Given the description of an element on the screen output the (x, y) to click on. 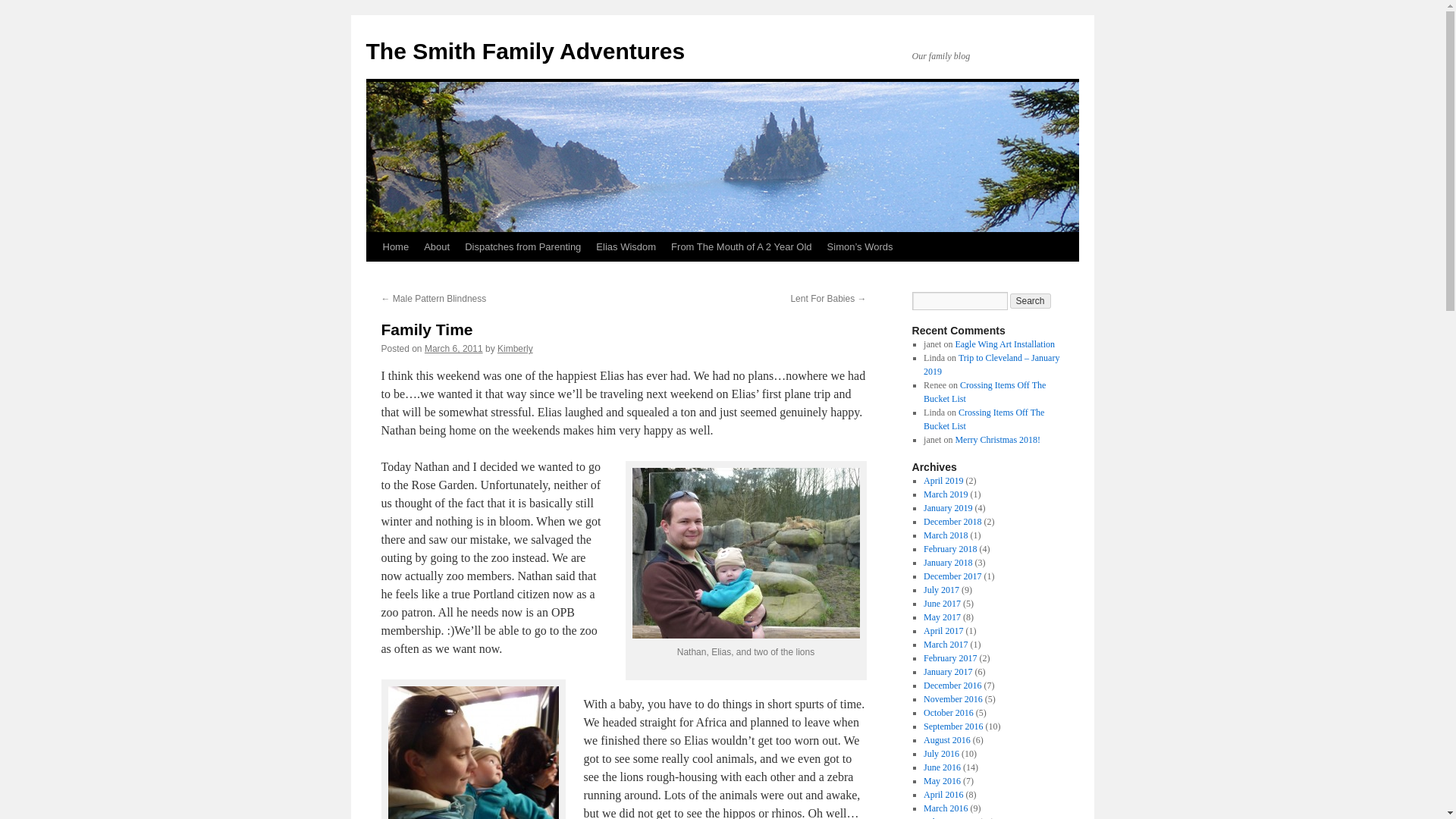
fan (473, 752)
Merry Christmas 2018! (998, 439)
Kimberly (514, 348)
Search (1030, 300)
April 2019 (942, 480)
February 2018 (949, 548)
March 6, 2011 (454, 348)
Search (1030, 300)
About (436, 246)
View all posts by Kimberly (514, 348)
Eagle Wing Art Installation (1004, 344)
Home (395, 246)
9:50 pm (454, 348)
December 2017 (952, 575)
From The Mouth of A 2 Year Old (740, 246)
